Given the description of an element on the screen output the (x, y) to click on. 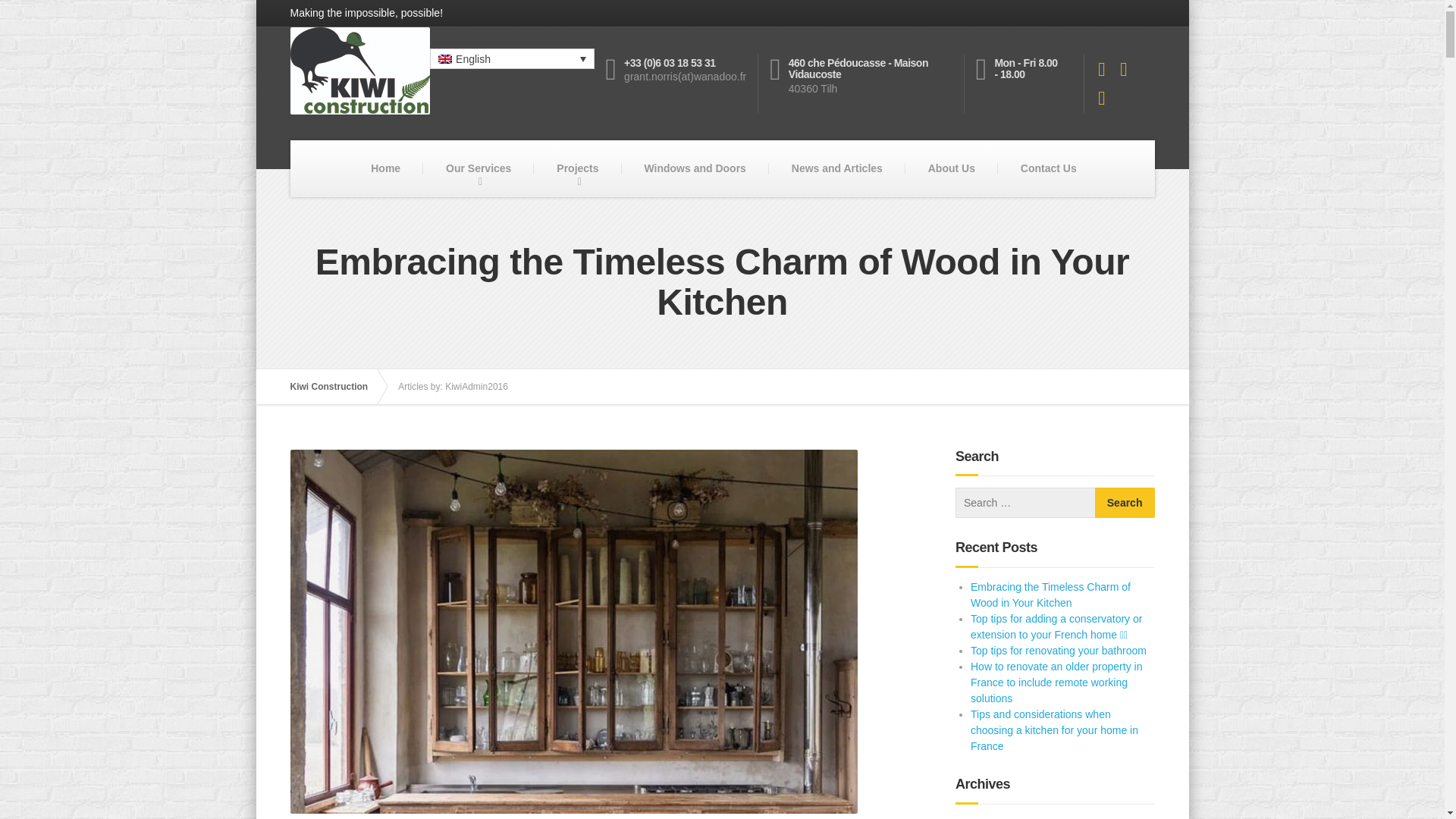
News and Articles (836, 168)
Search (1124, 502)
Windows and Doors (694, 168)
Our Services (478, 168)
Projects (577, 168)
Home (385, 168)
Contact Us (1048, 168)
English (511, 58)
Search (1124, 502)
Go to Kiwi Construction. (335, 386)
About Us (951, 168)
